Given the description of an element on the screen output the (x, y) to click on. 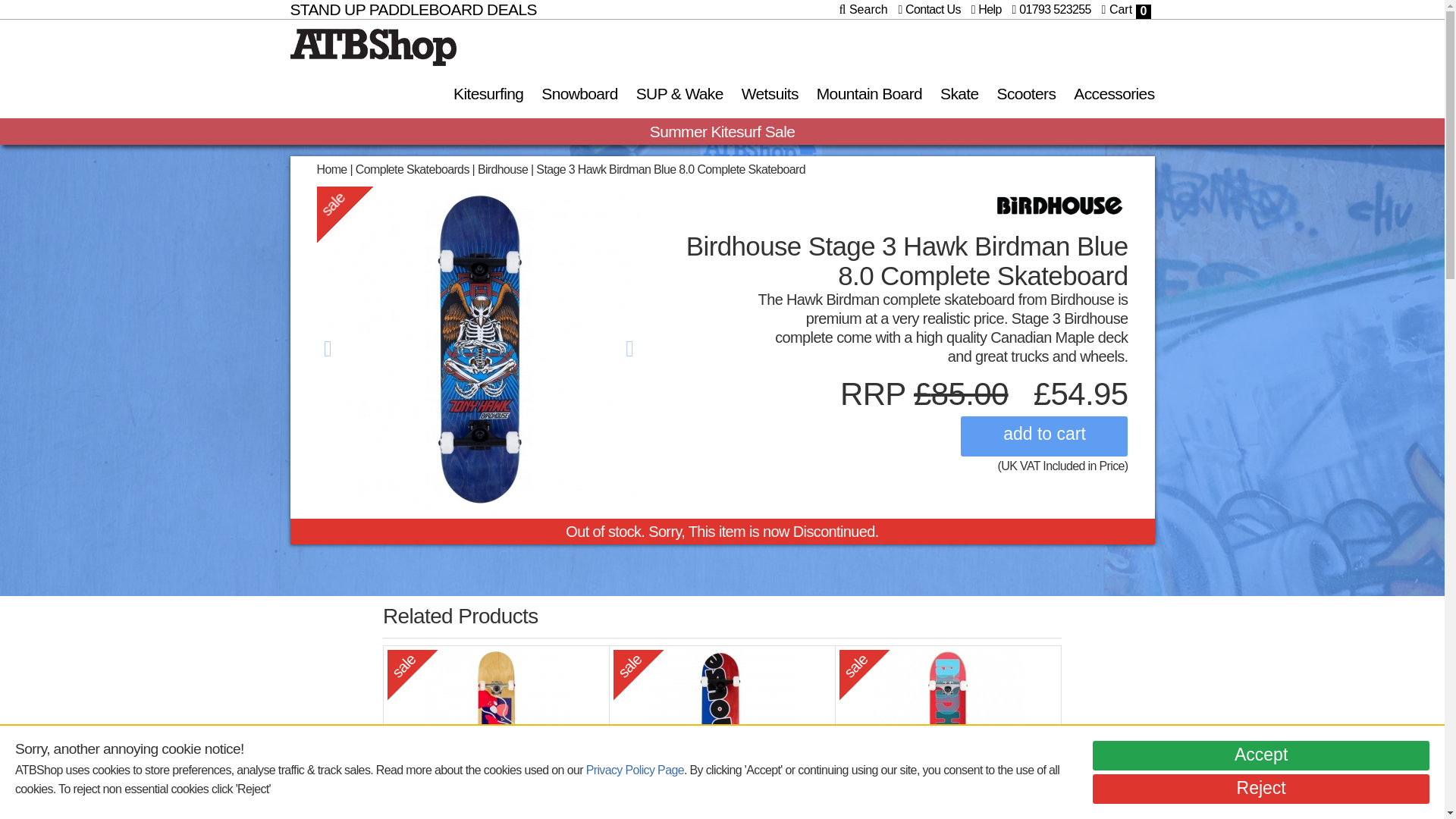
Search (864, 9)
01793 523255 (1050, 9)
Add to Cart (1043, 435)
Snowboard (579, 92)
Wetsuits (770, 92)
Kitesurfing (488, 92)
Skate (959, 92)
Contact Us (928, 9)
Privacy Policy (635, 769)
STAND UP PADDLEBOARD DEALS (412, 9)
